Given the description of an element on the screen output the (x, y) to click on. 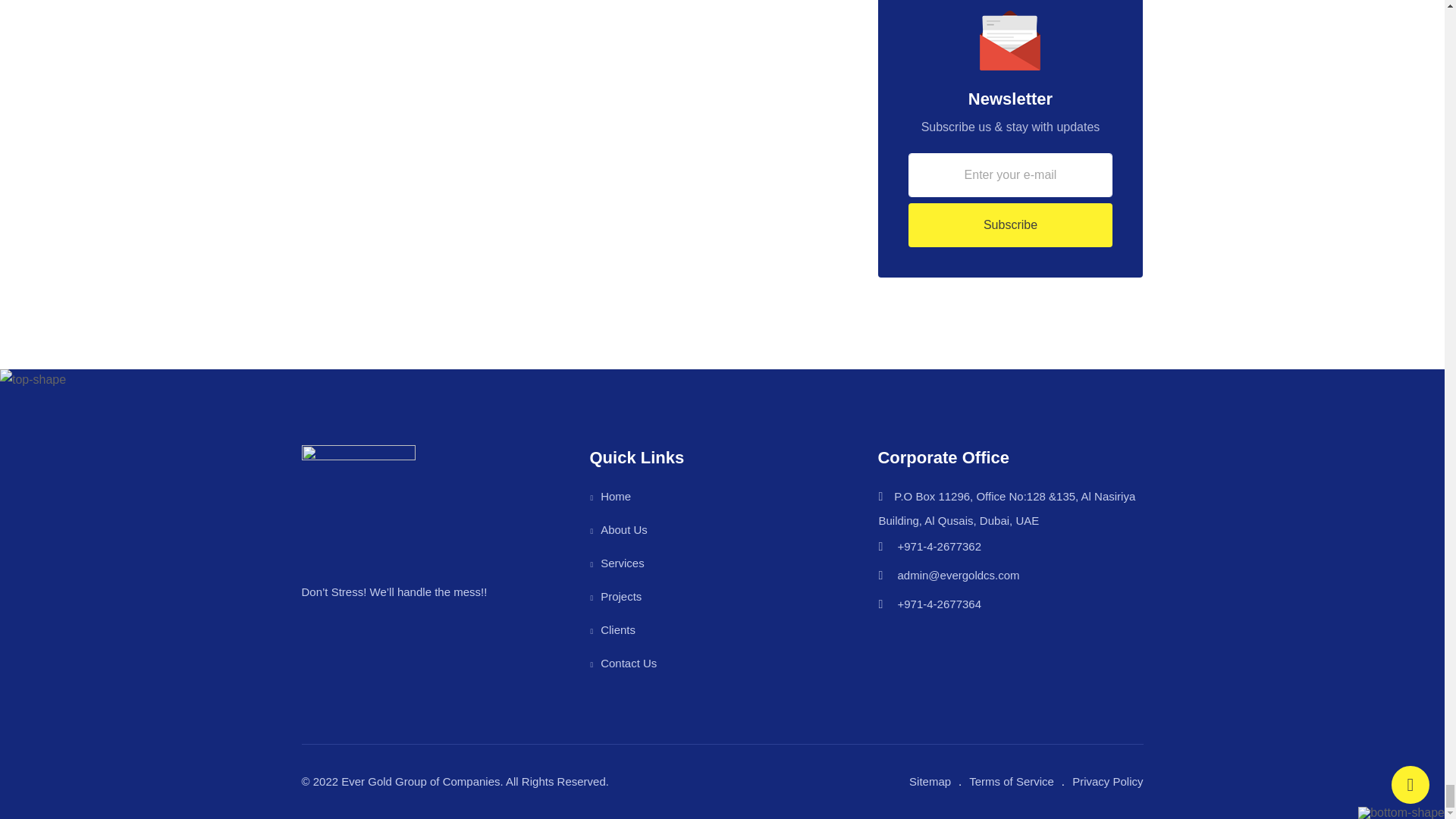
Subscribe (1010, 225)
